Given the description of an element on the screen output the (x, y) to click on. 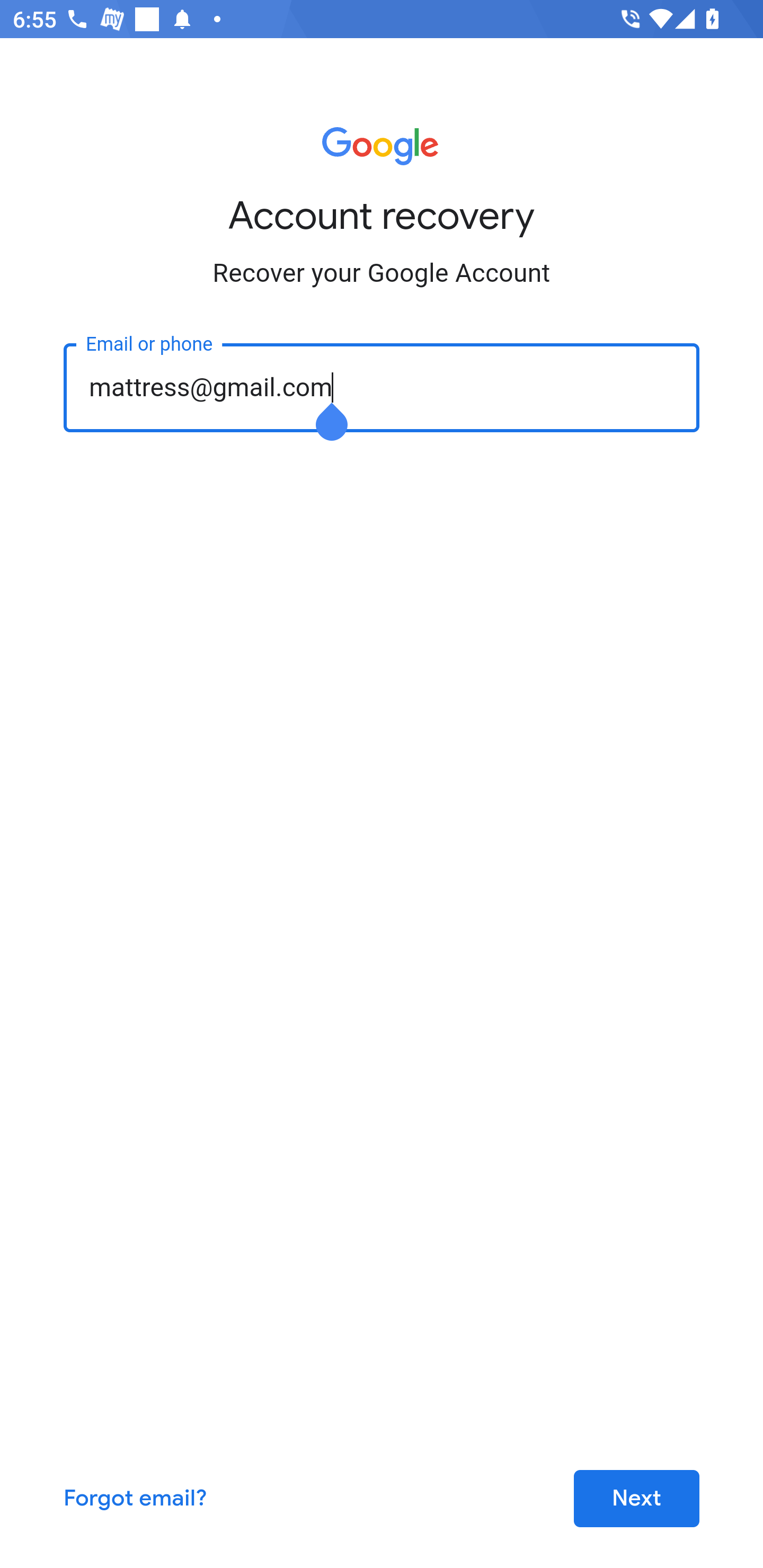
mattress@gmail.com (381, 386)
Forgot email? (136, 1498)
Next (635, 1498)
